Given the description of an element on the screen output the (x, y) to click on. 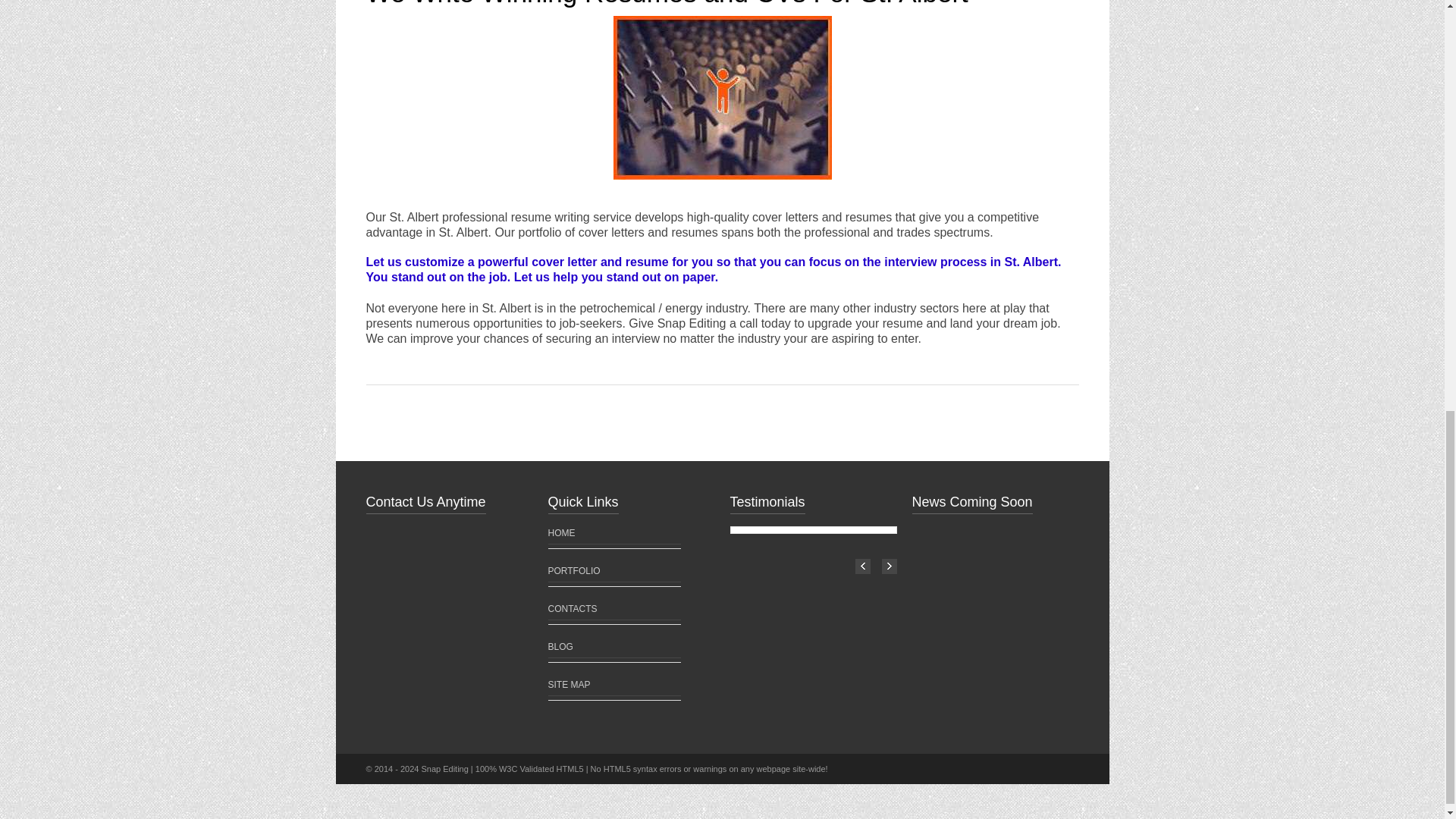
CONTACTS (571, 608)
BLOG (559, 646)
HOME (561, 532)
SITE MAP (568, 684)
PORTFOLIO (573, 570)
